Given the description of an element on the screen output the (x, y) to click on. 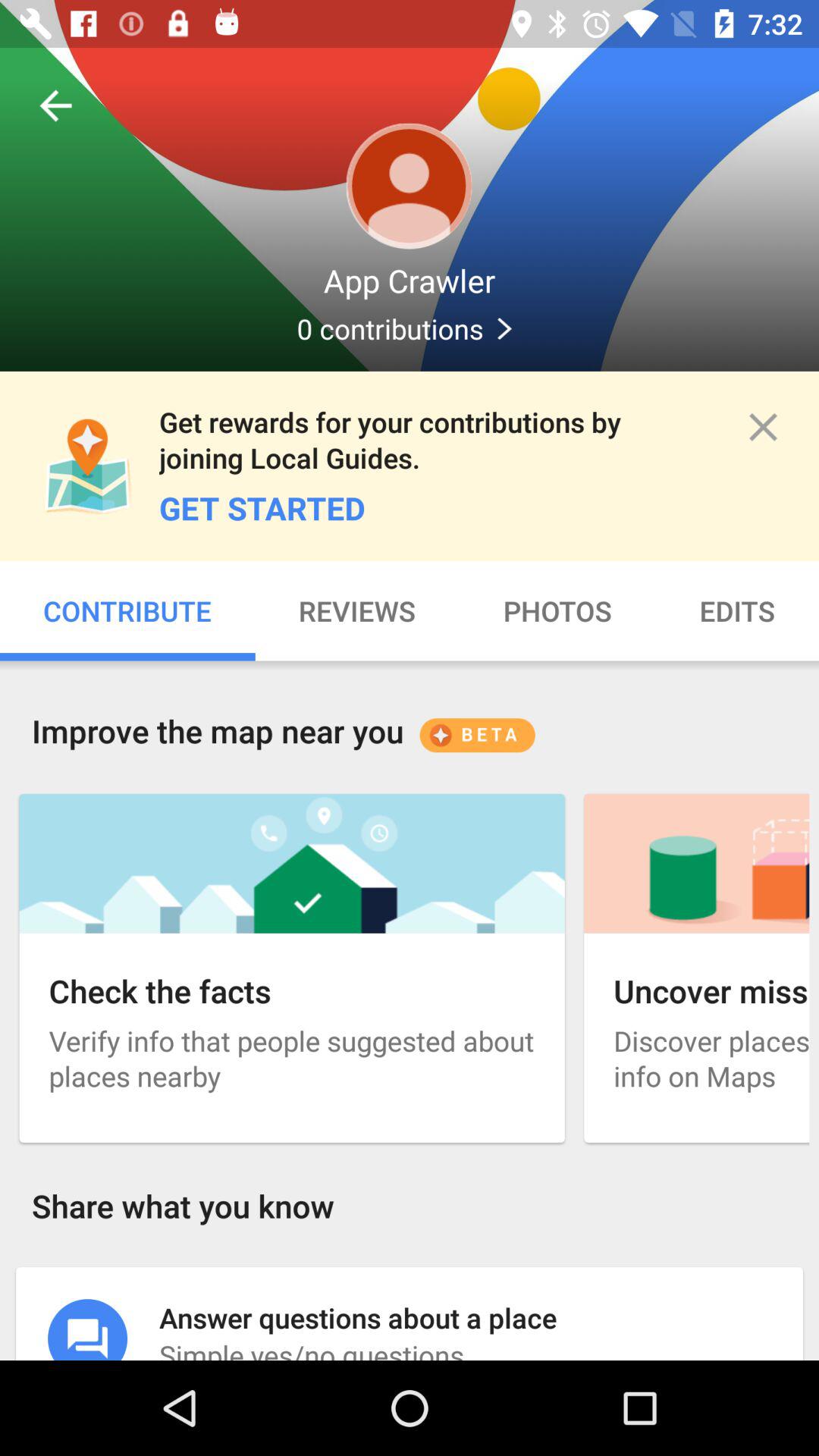
choose app next to photos item (737, 610)
